Given the description of an element on the screen output the (x, y) to click on. 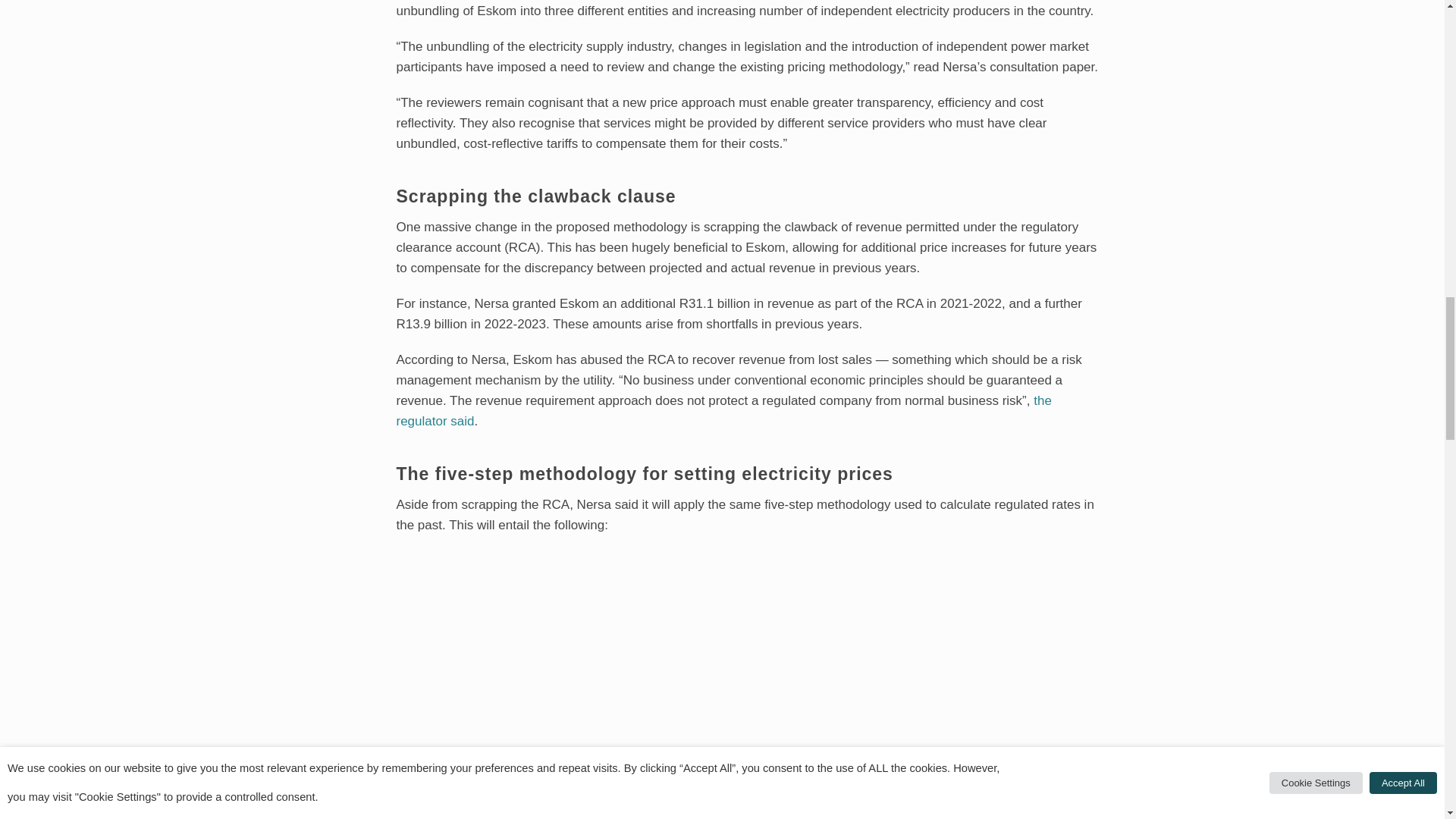
the regulator said (723, 410)
